Given the description of an element on the screen output the (x, y) to click on. 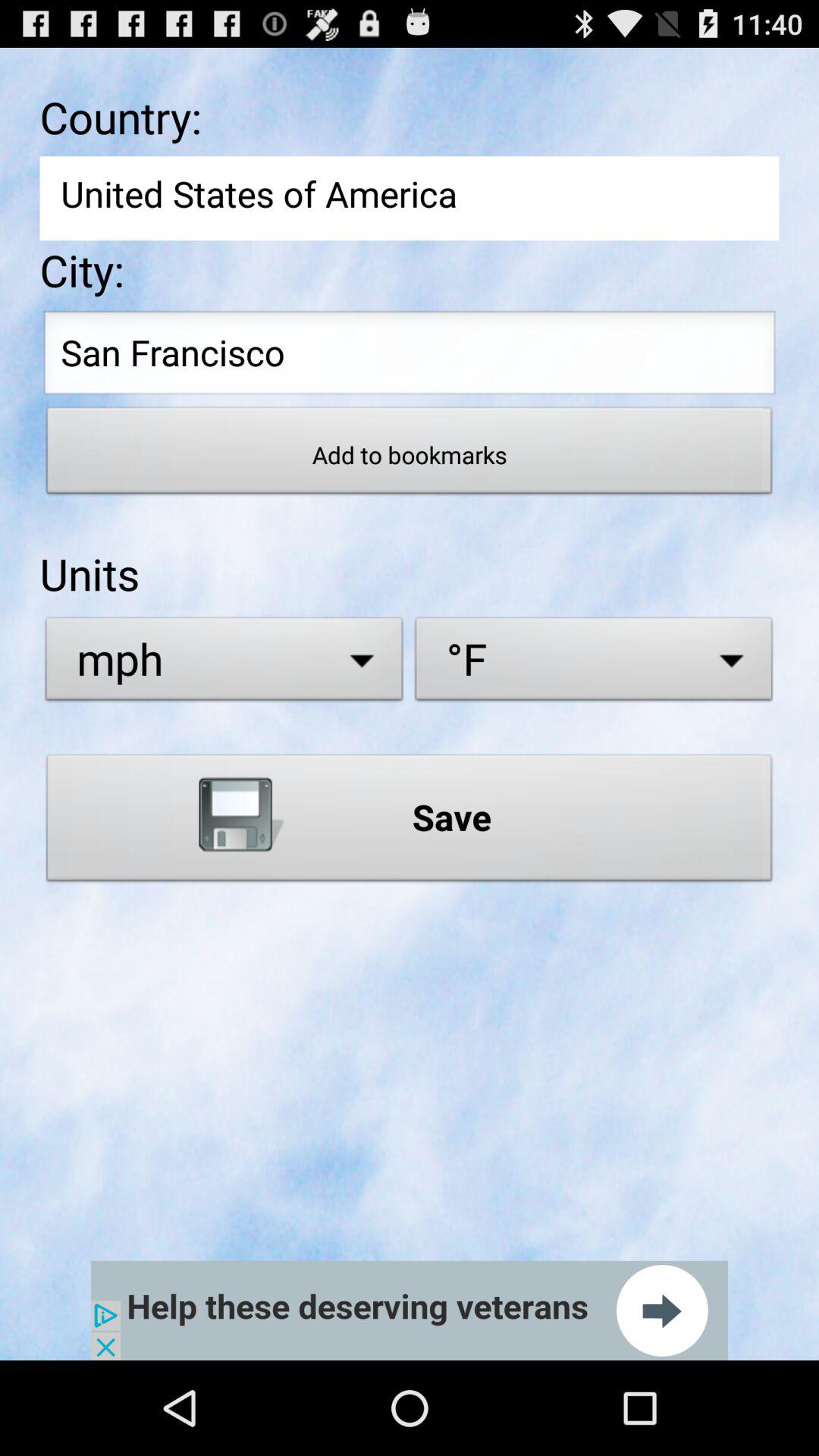
advertisement banner (409, 1310)
